Given the description of an element on the screen output the (x, y) to click on. 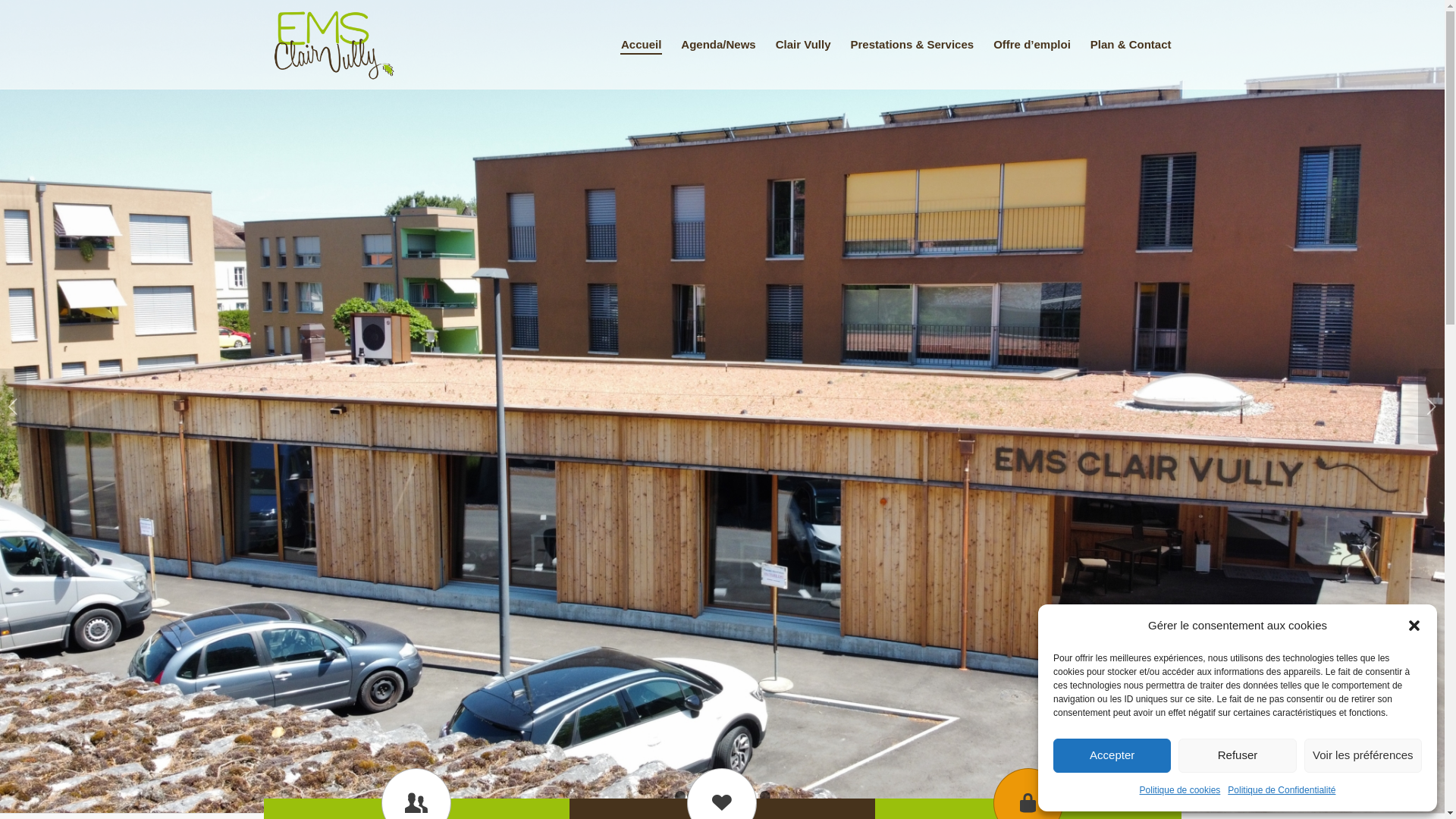
2 Element type: text (692, 795)
6 Element type: text (740, 795)
8 Element type: text (764, 795)
Politique de cookies Element type: text (1179, 790)
Agenda/News Element type: text (718, 44)
4 Element type: text (716, 795)
Accepter Element type: text (1111, 755)
Prestations & Services Element type: text (912, 44)
DNSU4312 Element type: hover (722, 406)
Plan & Contact Element type: text (1130, 44)
Suivant Element type: text (1431, 406)
3 Element type: text (704, 795)
5 Element type: text (728, 795)
Refuser Element type: text (1236, 755)
1 Element type: text (679, 795)
7 Element type: text (752, 795)
Clair Vully Element type: text (802, 44)
Accueil Element type: text (641, 44)
